Given the description of an element on the screen output the (x, y) to click on. 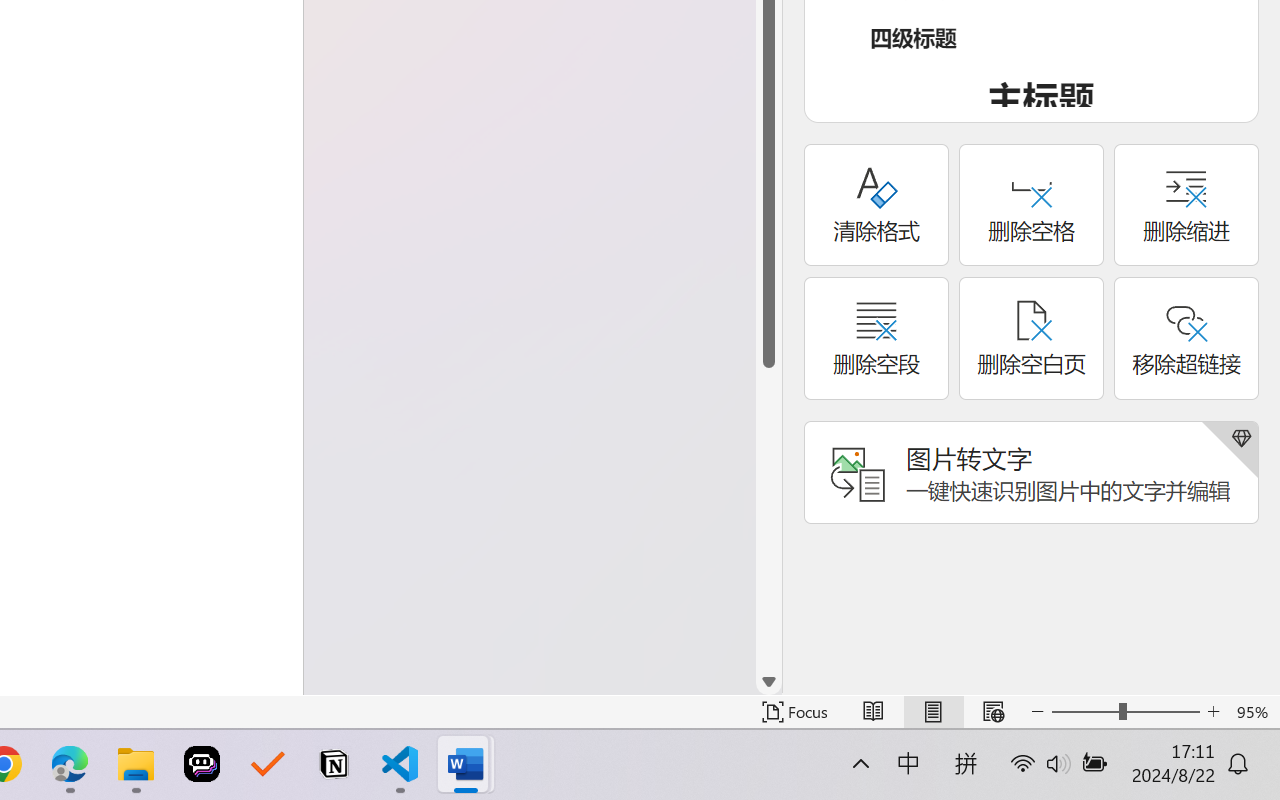
Line down (769, 681)
Page down (769, 518)
Zoom 95% (1253, 712)
